Given the description of an element on the screen output the (x, y) to click on. 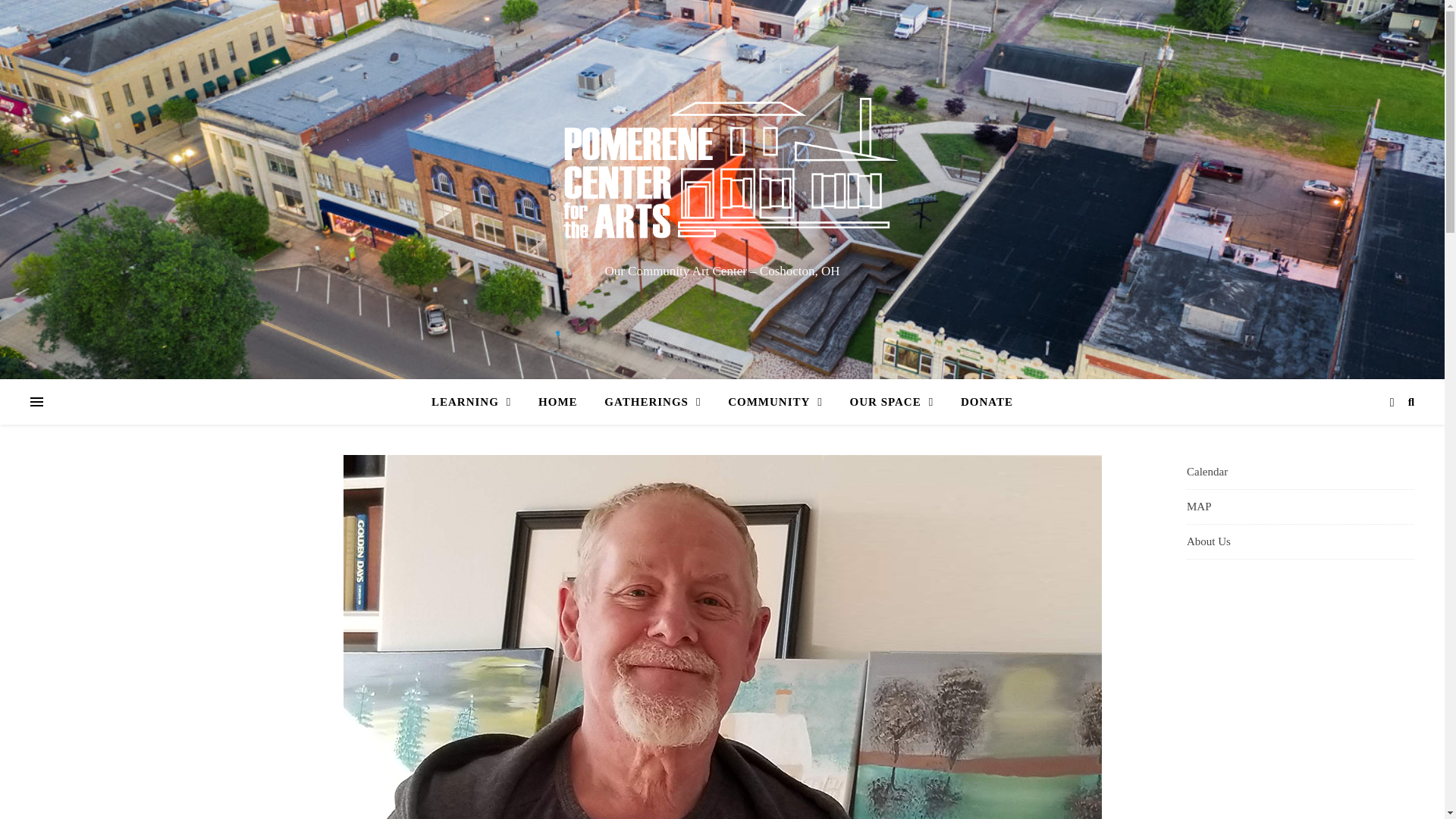
OUR SPACE (892, 402)
DONATE (981, 402)
LEARNING (476, 402)
HOME (557, 402)
COMMUNITY (775, 402)
GATHERINGS (652, 402)
Pomerene Center for the Arts (721, 175)
